Given the description of an element on the screen output the (x, y) to click on. 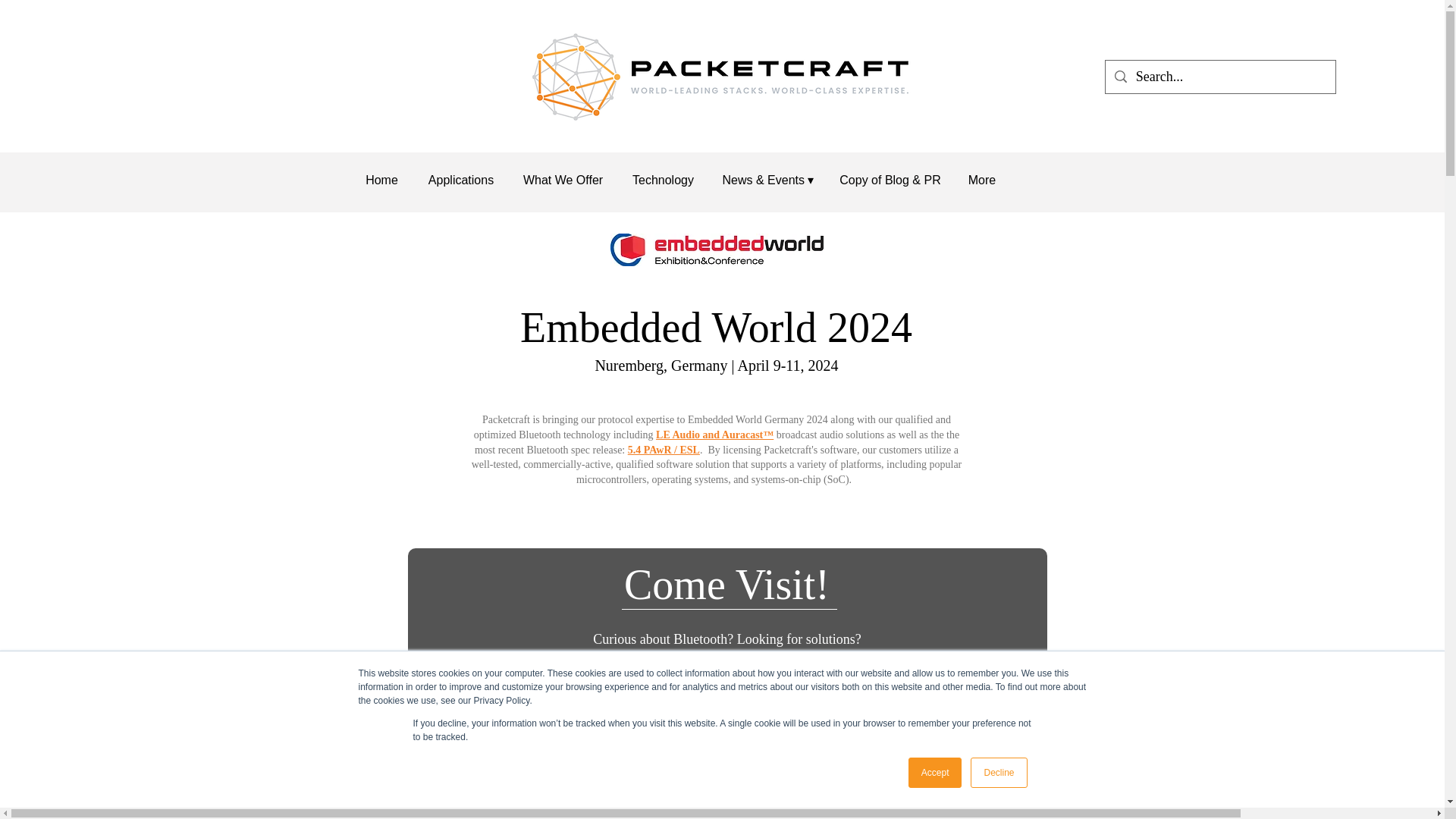
Accept (935, 772)
Home (381, 179)
Decline (998, 772)
Schedule Here (726, 699)
